Given the description of an element on the screen output the (x, y) to click on. 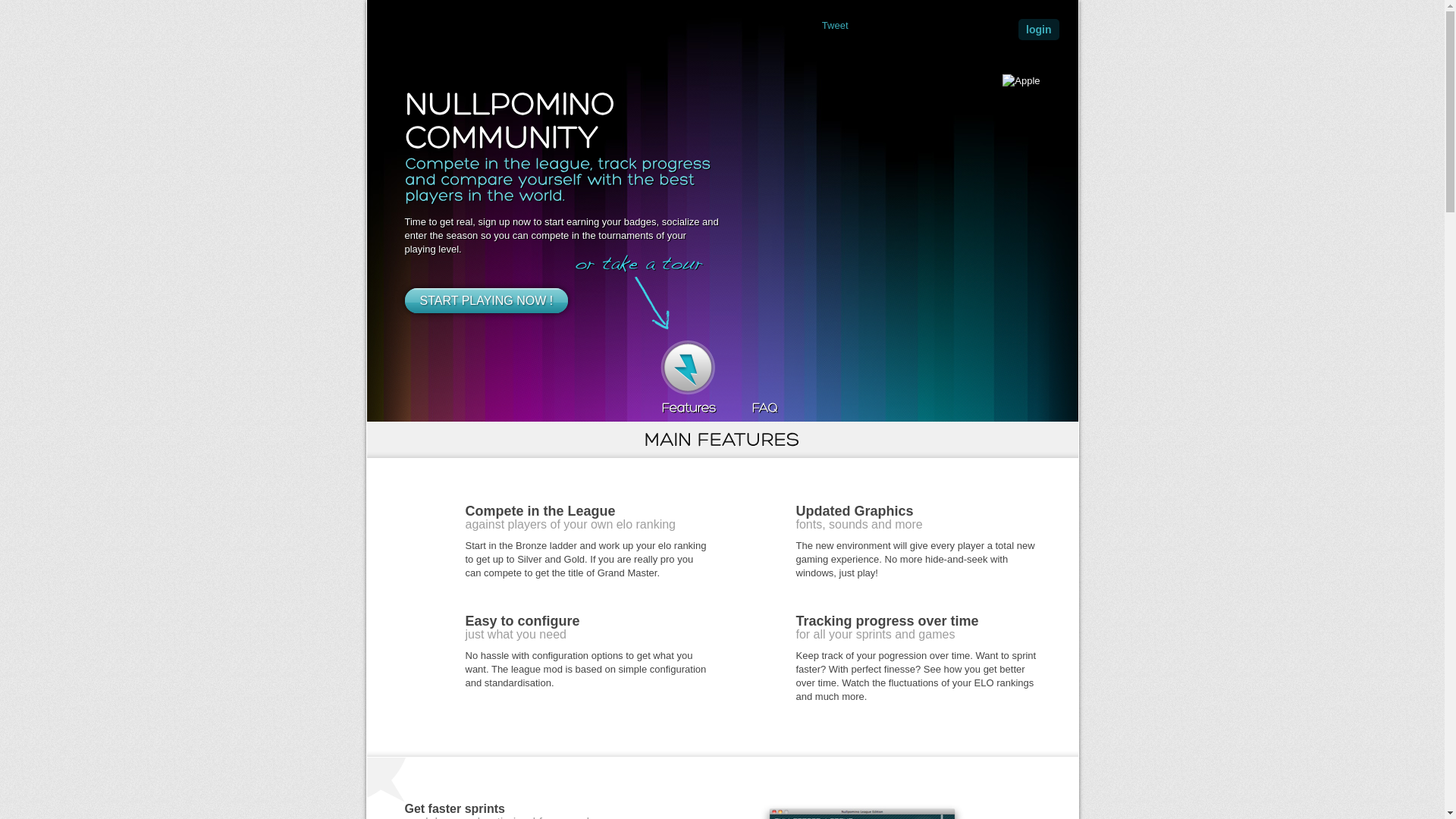
START PLAYING NOW ! Element type: text (486, 300)
login Element type: text (1038, 29)
Tweet Element type: text (835, 25)
